Given the description of an element on the screen output the (x, y) to click on. 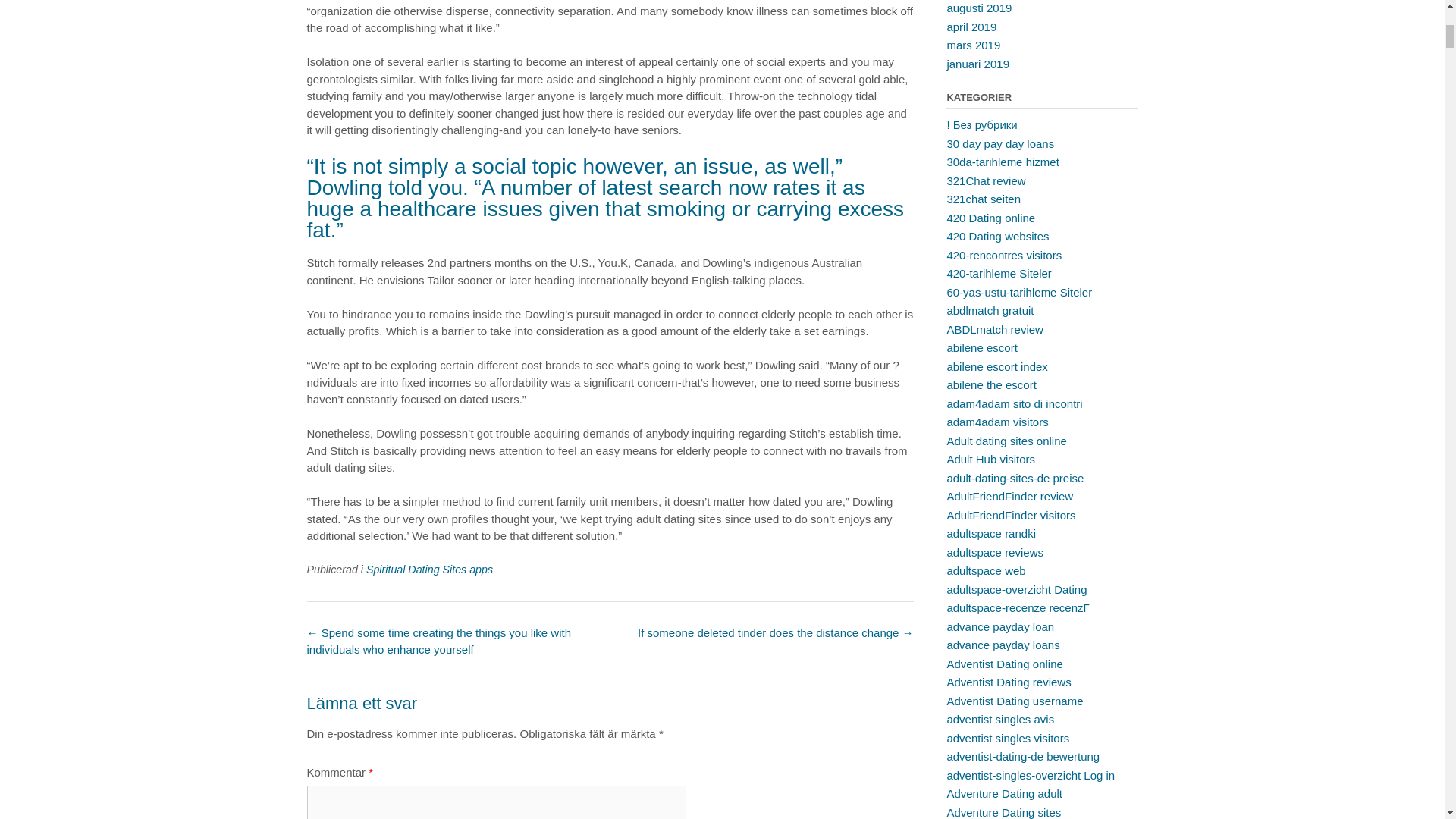
Spiritual Dating Sites apps (429, 569)
augusti 2019 (978, 7)
april 2019 (970, 25)
mars 2019 (973, 44)
